Given the description of an element on the screen output the (x, y) to click on. 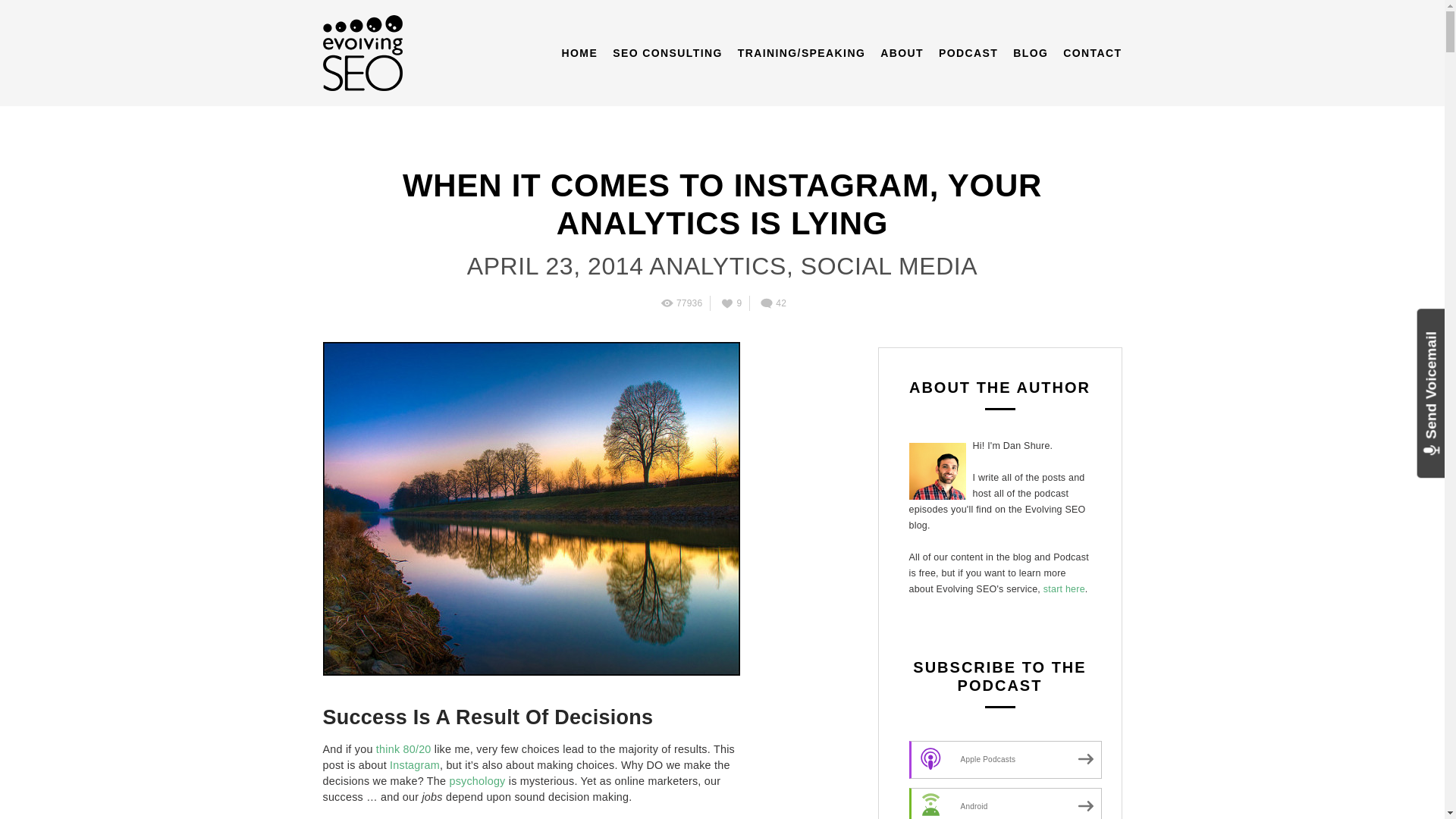
View all posts in Social Media (884, 266)
ANALYTICS (714, 266)
Subscribe on Android (1004, 803)
View all posts in Analytics (714, 266)
SEO CONSULTING (667, 53)
Subscribe on Apple Podcasts (1004, 759)
